Given the description of an element on the screen output the (x, y) to click on. 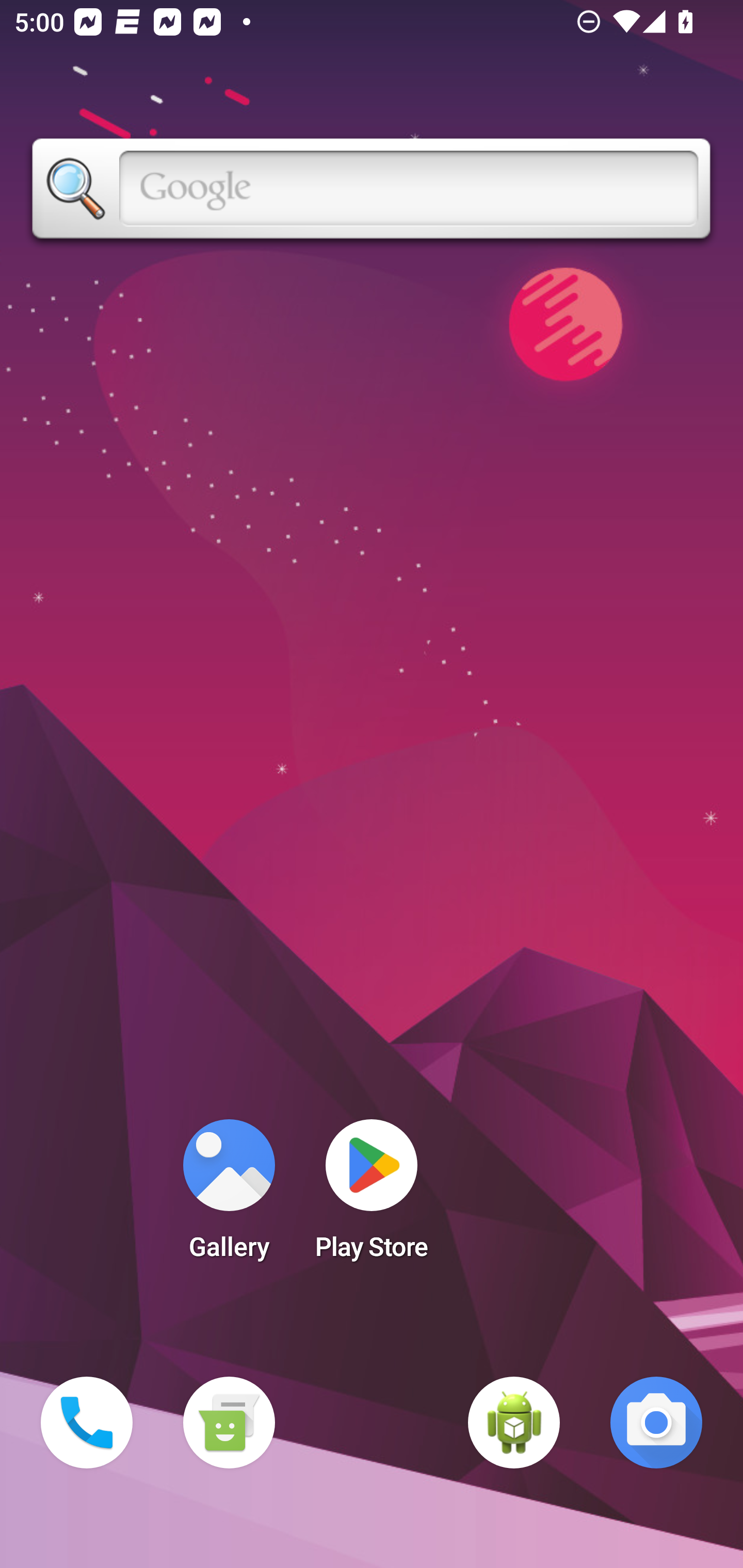
Gallery (228, 1195)
Play Store (371, 1195)
Phone (86, 1422)
Messaging (228, 1422)
WebView Browser Tester (513, 1422)
Camera (656, 1422)
